Given the description of an element on the screen output the (x, y) to click on. 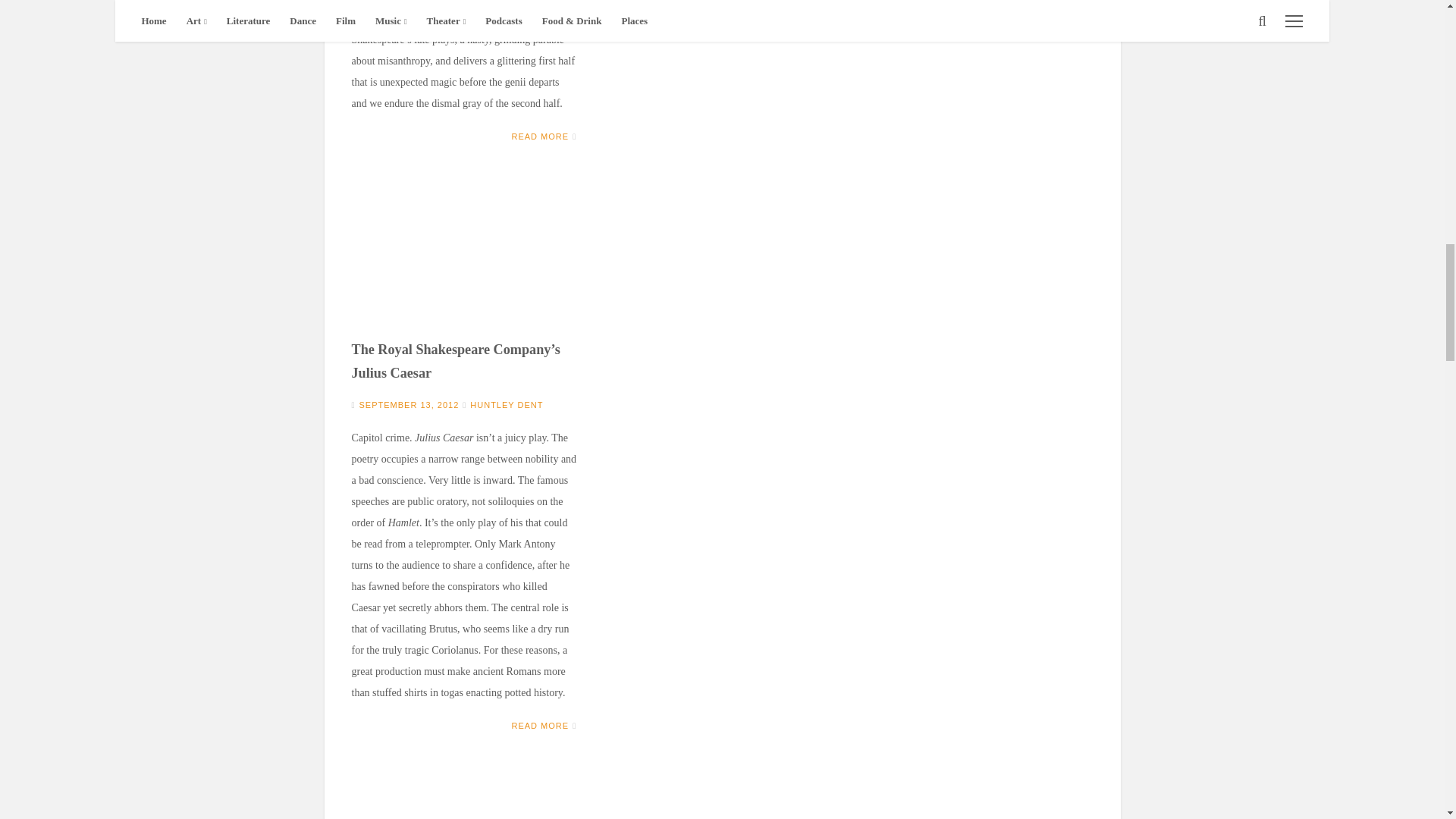
READ MORE (540, 725)
HUNTLEY DENT (506, 404)
Turner at the Tate (464, 797)
READ MORE (540, 135)
